Given the description of an element on the screen output the (x, y) to click on. 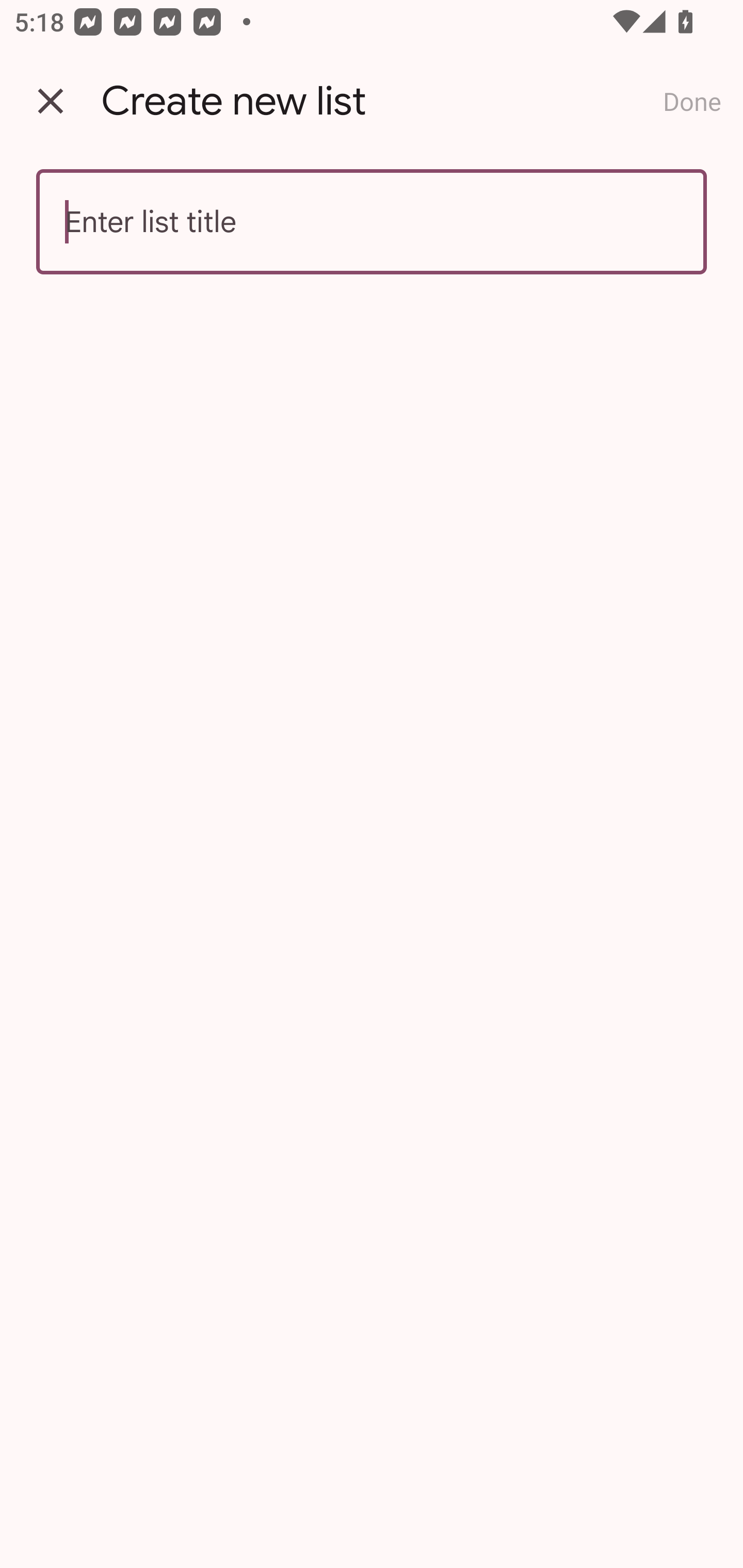
Back (50, 101)
Done (692, 101)
Enter list title (371, 221)
